Given the description of an element on the screen output the (x, y) to click on. 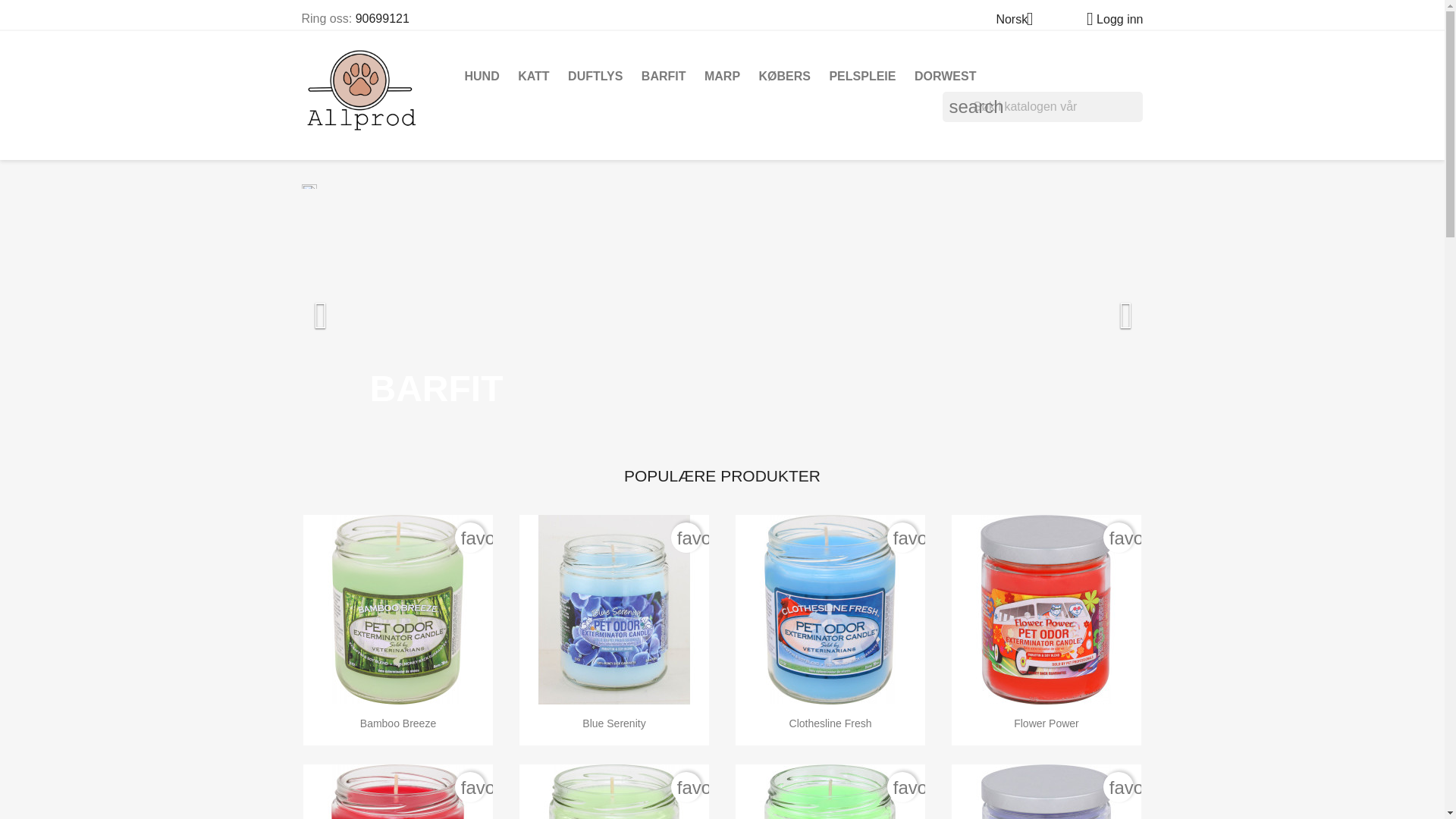
HUND (481, 76)
MARP (722, 76)
DUFTLYS (595, 76)
Logg inn med din kundekonto (1108, 19)
KATT (533, 76)
90699121 (382, 18)
BARFIT (663, 76)
